Given the description of an element on the screen output the (x, y) to click on. 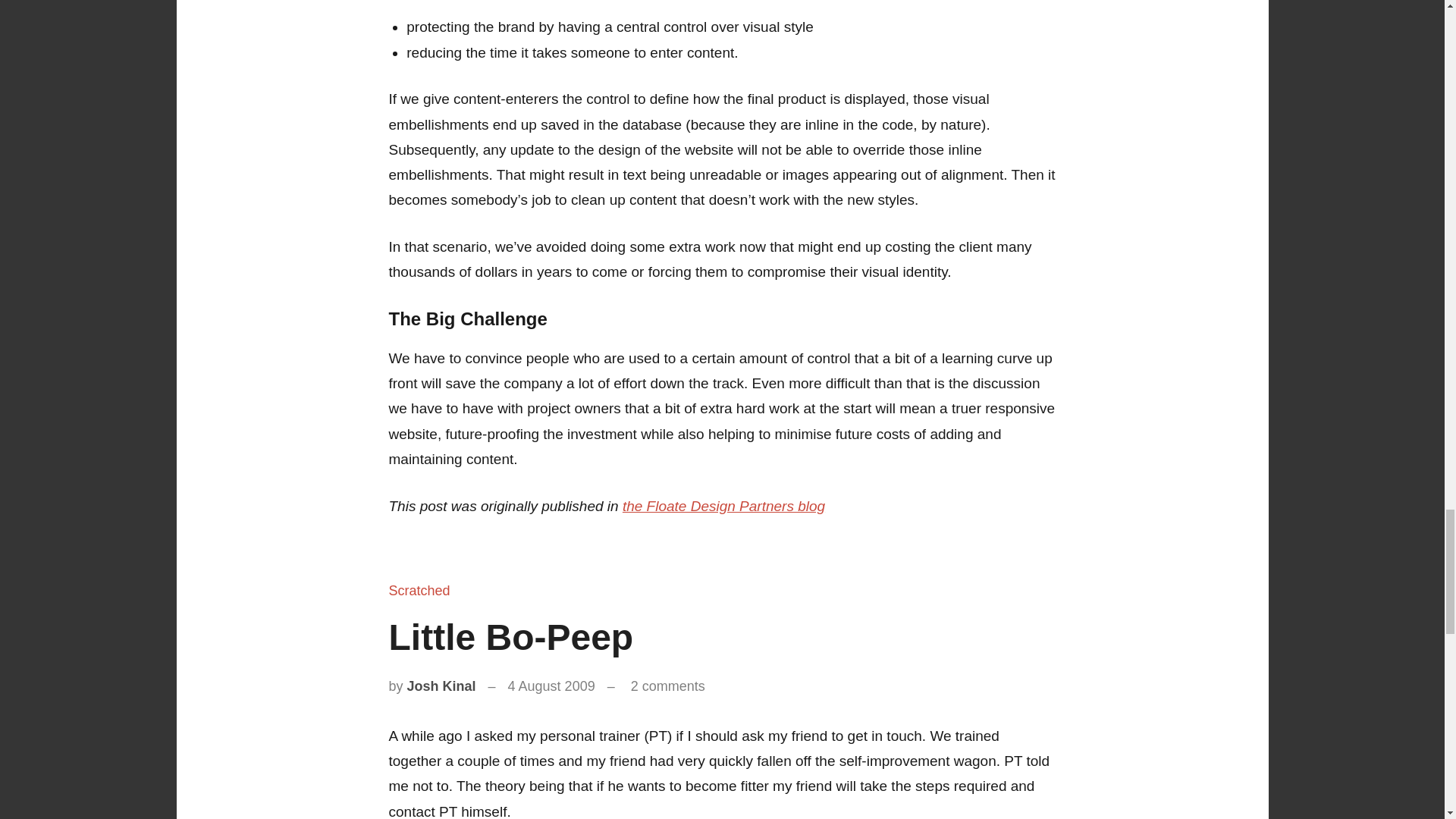
Little Bo-Peep (510, 637)
4 August 2009 (551, 685)
Josh Kinal (441, 685)
2 comments (667, 685)
the Floate Design Partners blog (724, 505)
View all posts by Josh Kinal (441, 685)
Scratched (418, 590)
